Given the description of an element on the screen output the (x, y) to click on. 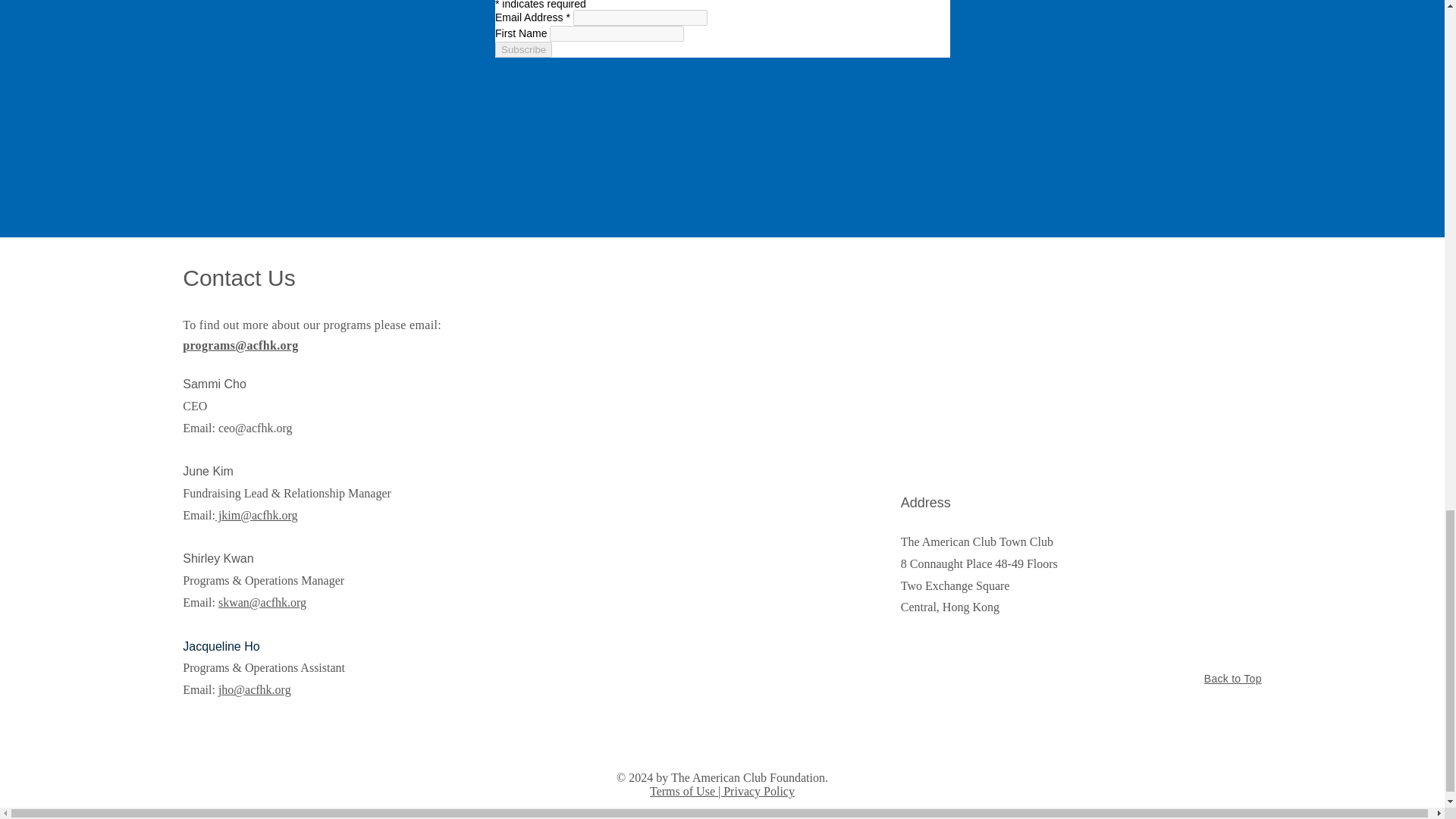
Embedded Content (721, 118)
Back to Top (1233, 678)
Google Maps (1082, 373)
